Given the description of an element on the screen output the (x, y) to click on. 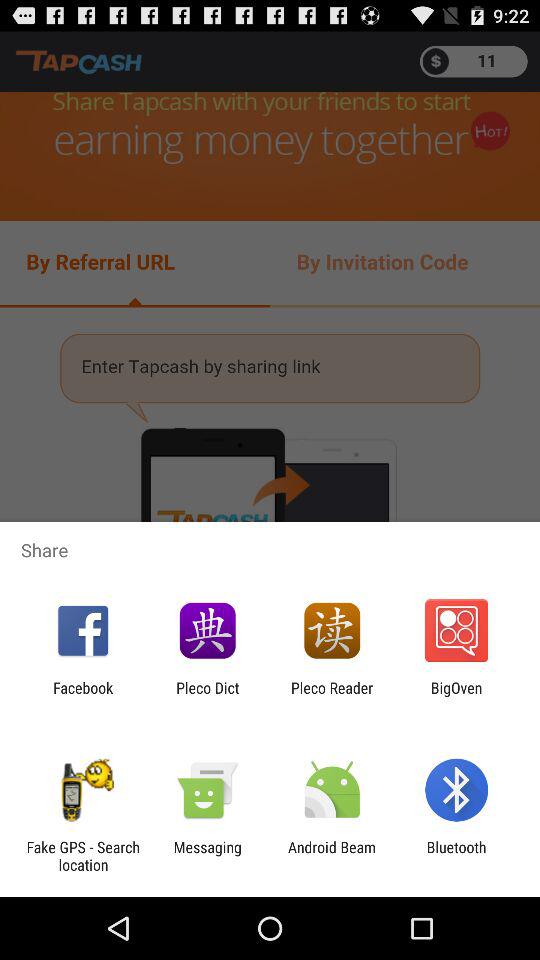
choose the icon to the left of the messaging icon (83, 856)
